Given the description of an element on the screen output the (x, y) to click on. 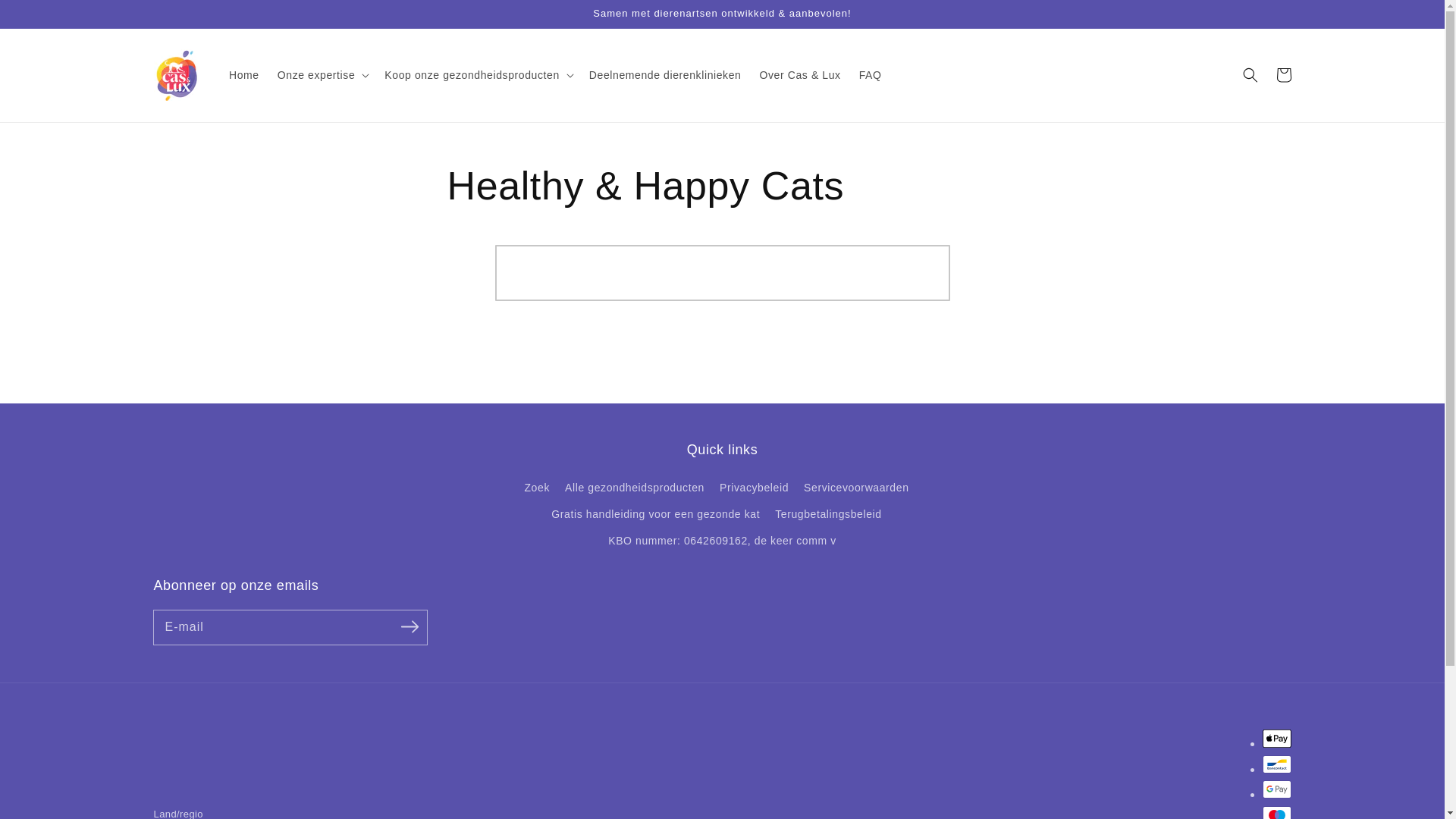
Servicevoorwaarden Element type: text (855, 487)
Gratis handleiding voor een gezonde kat Element type: text (655, 514)
Winkelwagen Element type: text (1282, 74)
Deelnemende dierenklinieken Element type: text (665, 75)
Terugbetalingsbeleid Element type: text (828, 514)
FAQ Element type: text (870, 75)
Zoek Element type: text (536, 489)
Privacybeleid Element type: text (753, 487)
Form Builder - GWKdr_OsKree4QrjP54Qiw Element type: hover (722, 301)
Over Cas & Lux Element type: text (799, 75)
Home Element type: text (243, 75)
Alle gezondheidsproducten Element type: text (634, 487)
KBO nummer: 0642609162, de keer comm v Element type: text (722, 540)
